Given the description of an element on the screen output the (x, y) to click on. 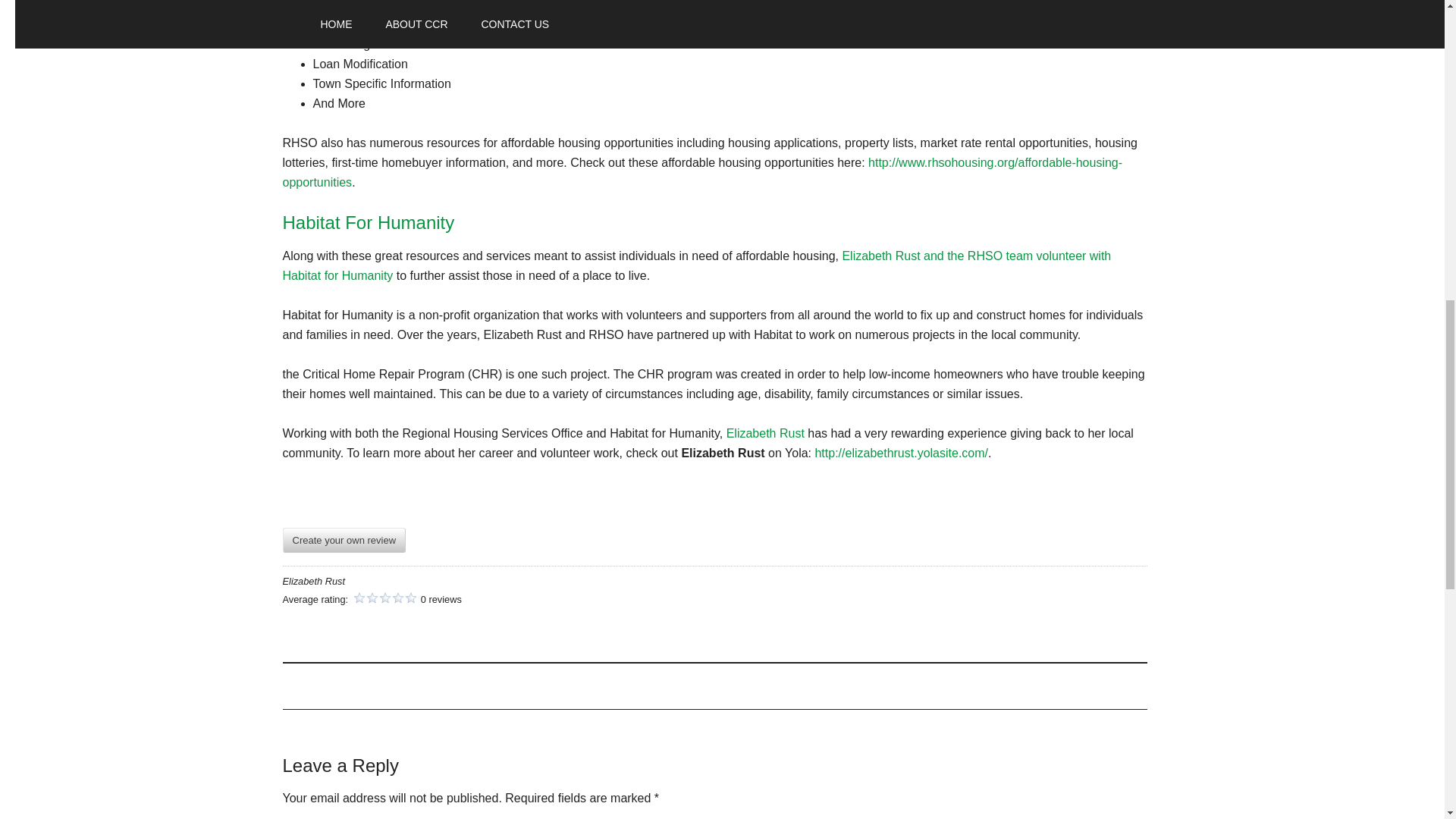
Habitat For Humanity (368, 222)
Elizabeth Rust (765, 432)
